Given the description of an element on the screen output the (x, y) to click on. 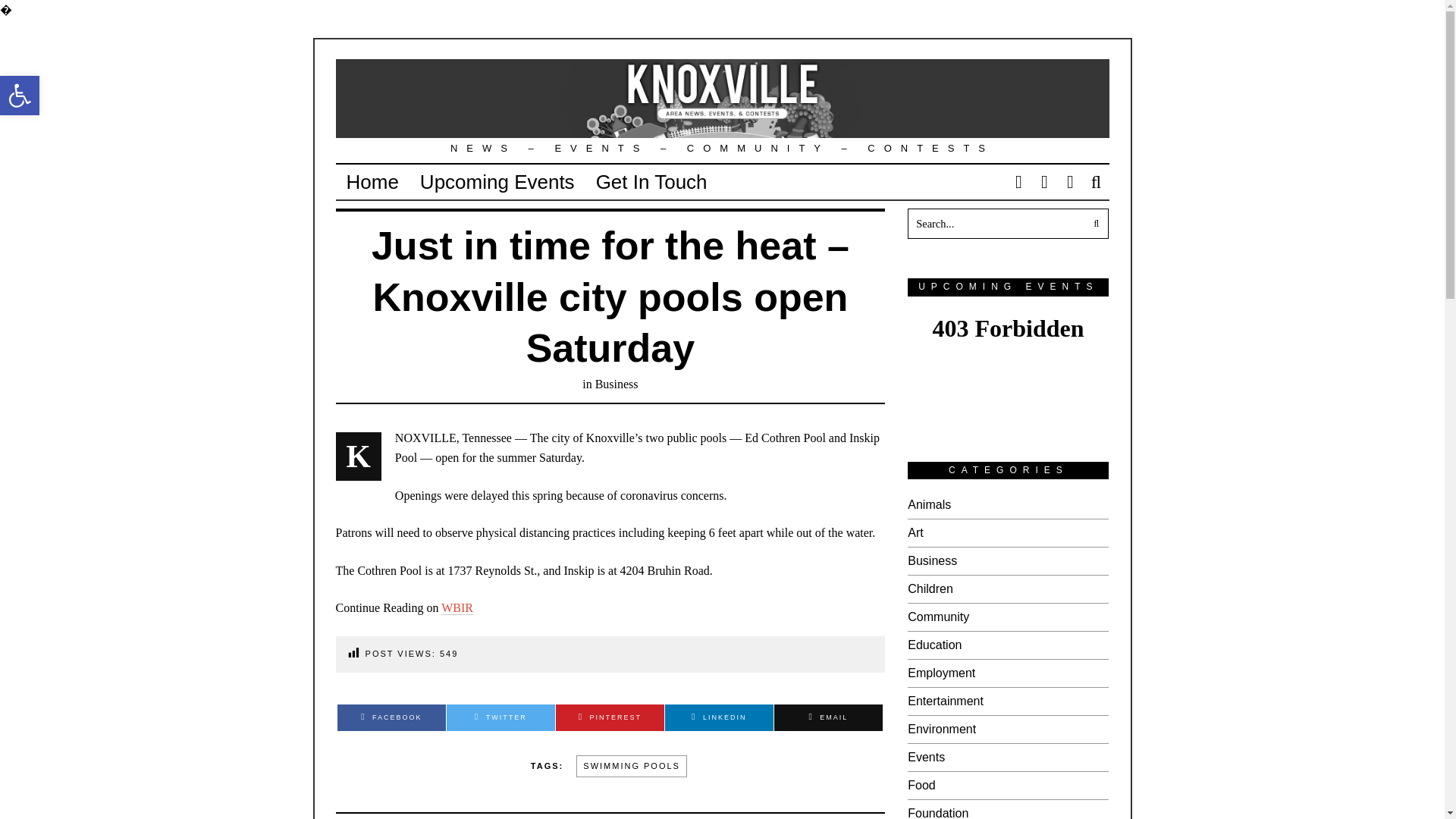
WBIR (457, 608)
LINKEDIN (719, 717)
Go (1093, 223)
Children (930, 588)
Twitter (500, 717)
Pinterest (609, 717)
TWITTER (500, 717)
Email (828, 717)
Art (915, 532)
calendar (1007, 365)
EMAIL (828, 717)
Employment (941, 672)
Business (931, 560)
FACEBOOK (391, 717)
Linkedin (719, 717)
